Given the description of an element on the screen output the (x, y) to click on. 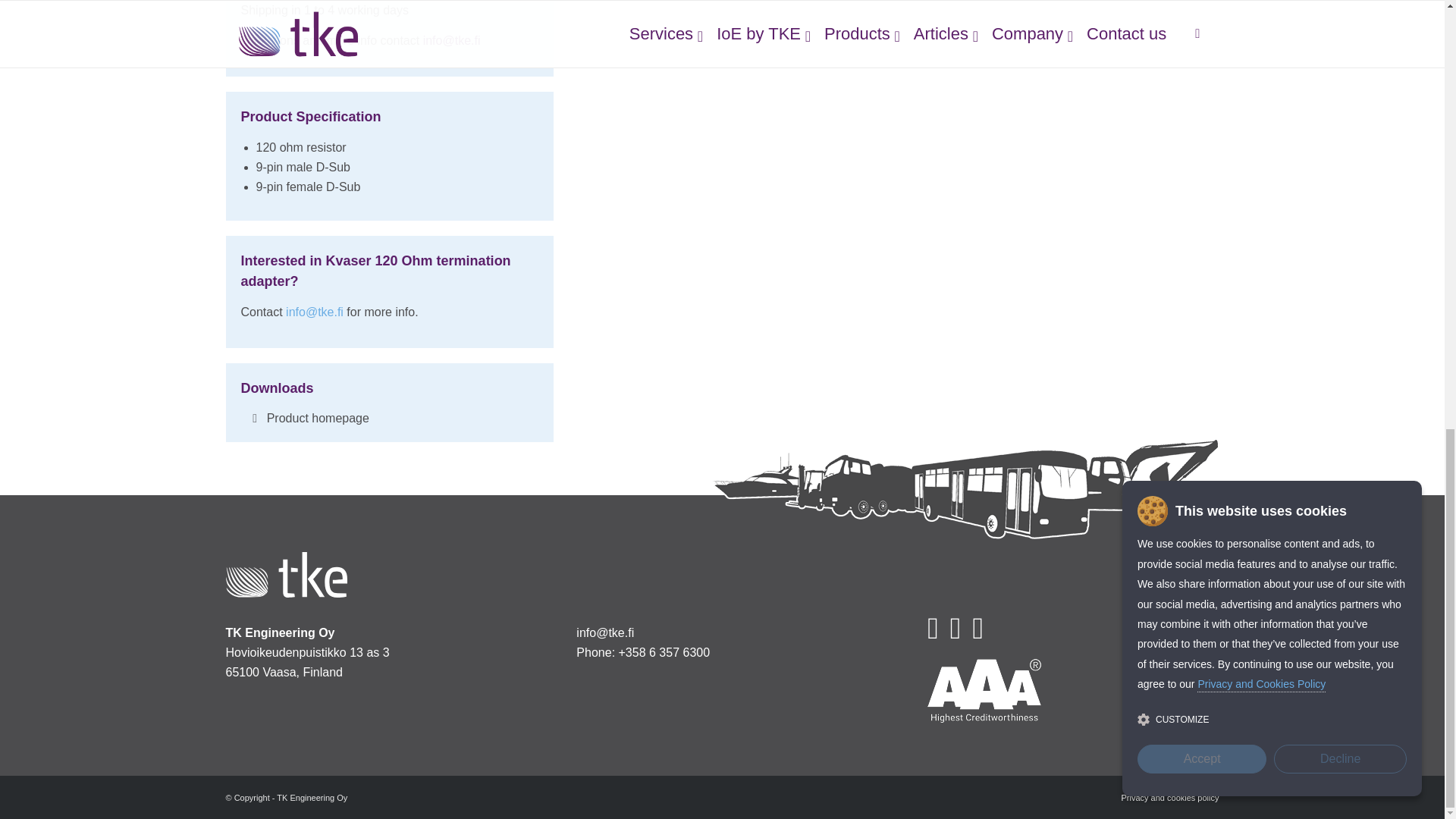
Product homepage (317, 418)
Highest creditworthiness (984, 690)
Product homepage (254, 417)
tke-logo-white (286, 574)
Product homepage (317, 418)
